Given the description of an element on the screen output the (x, y) to click on. 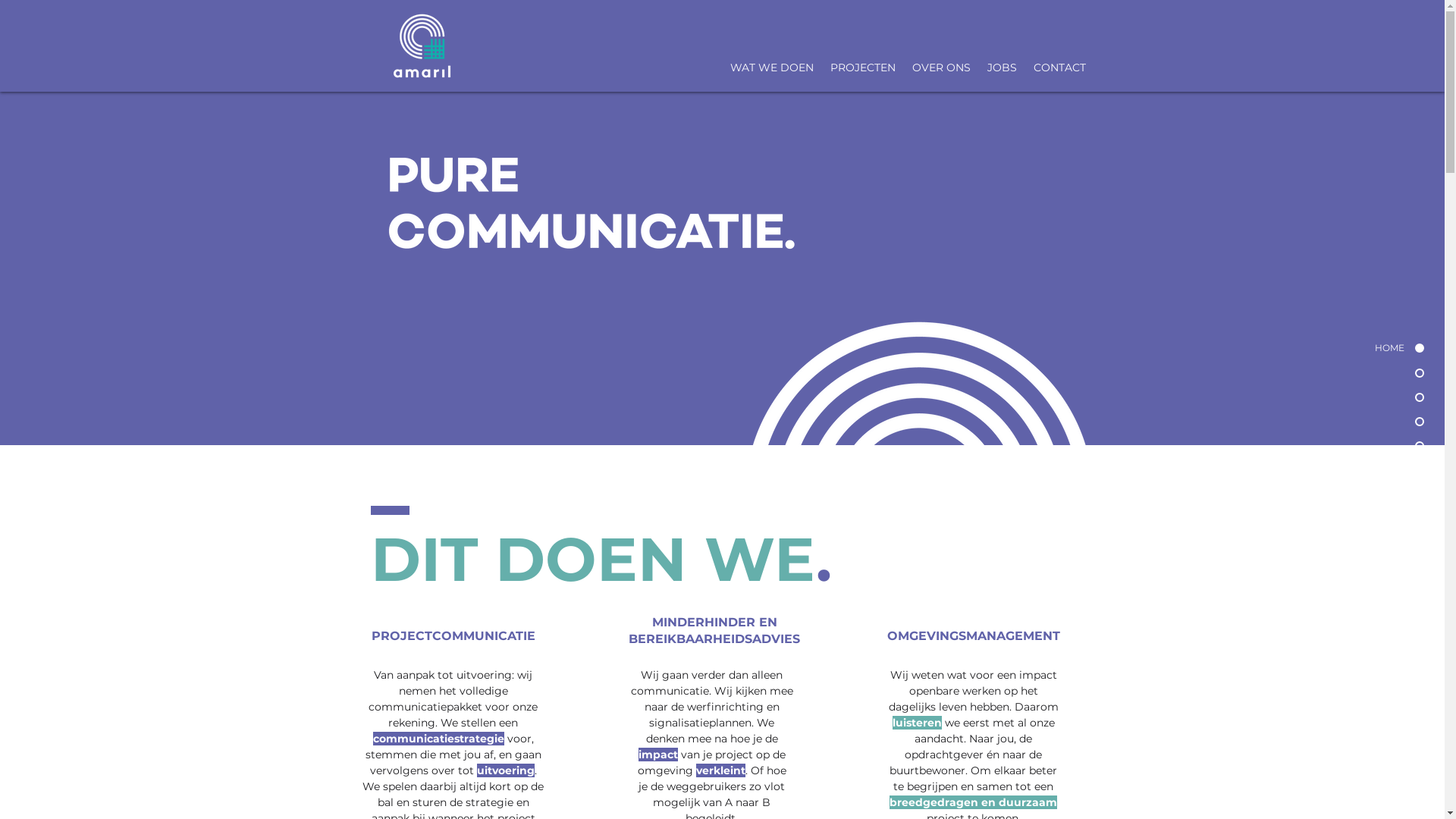
Logo Amaril Element type: hover (421, 45)
OVER ONS Element type: text (941, 67)
PROJECTEN Element type: text (862, 67)
JOBS Element type: text (1001, 67)
HOME Element type: text (1365, 348)
WAT WE DOEN Element type: text (771, 67)
CONTACT Element type: text (1059, 67)
